Given the description of an element on the screen output the (x, y) to click on. 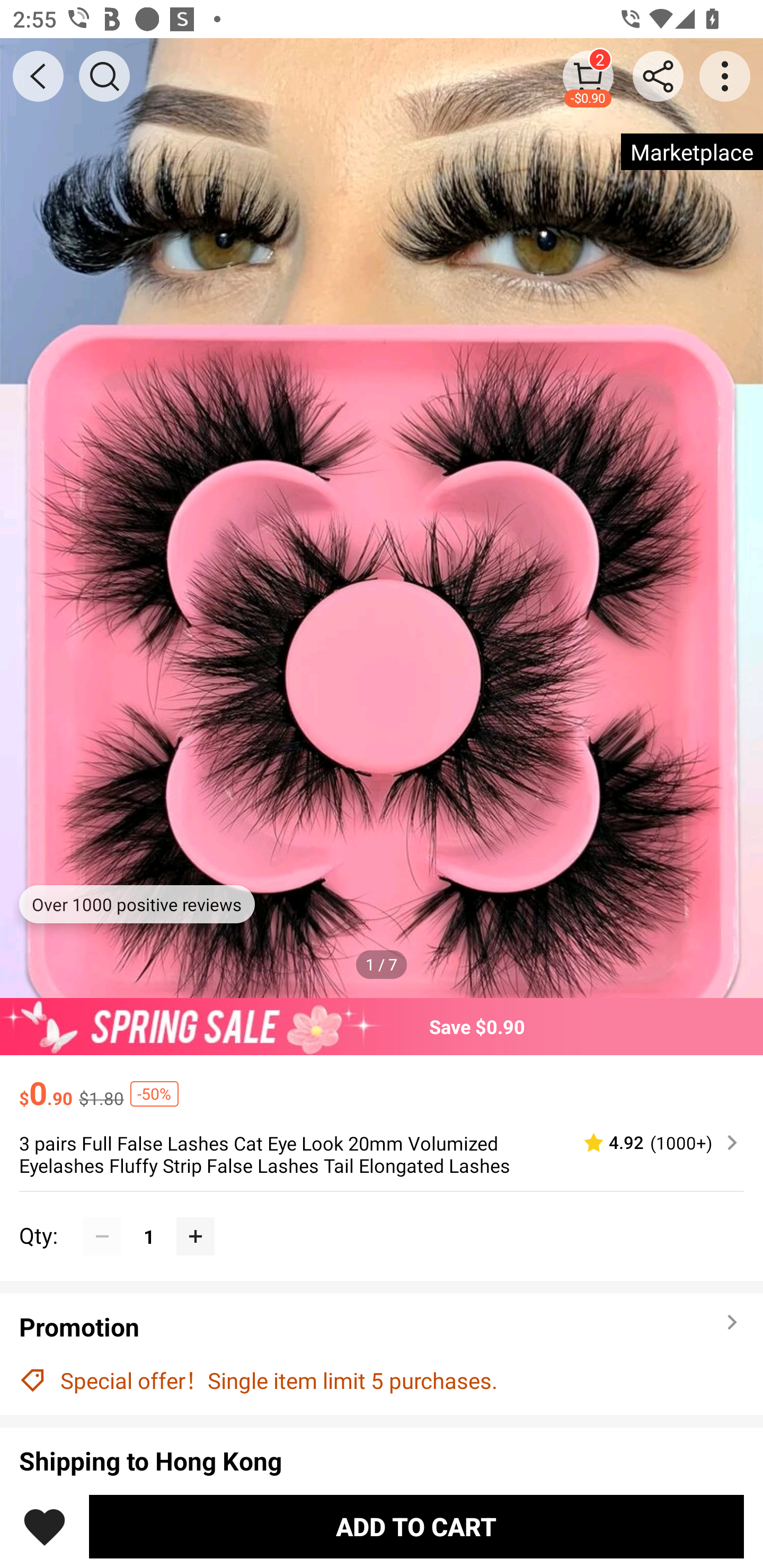
BACK (38, 75)
2 -$0.90 (588, 75)
1 / 7 (381, 964)
Save $0.90 (381, 1026)
$0.90 $1.80 -50% (381, 1084)
4.92 (1000‎+) (653, 1142)
Qty: 1 (381, 1216)
Shipping to Hong Kong (381, 1464)
ADD TO CART (416, 1526)
Saved (44, 1526)
